Given the description of an element on the screen output the (x, y) to click on. 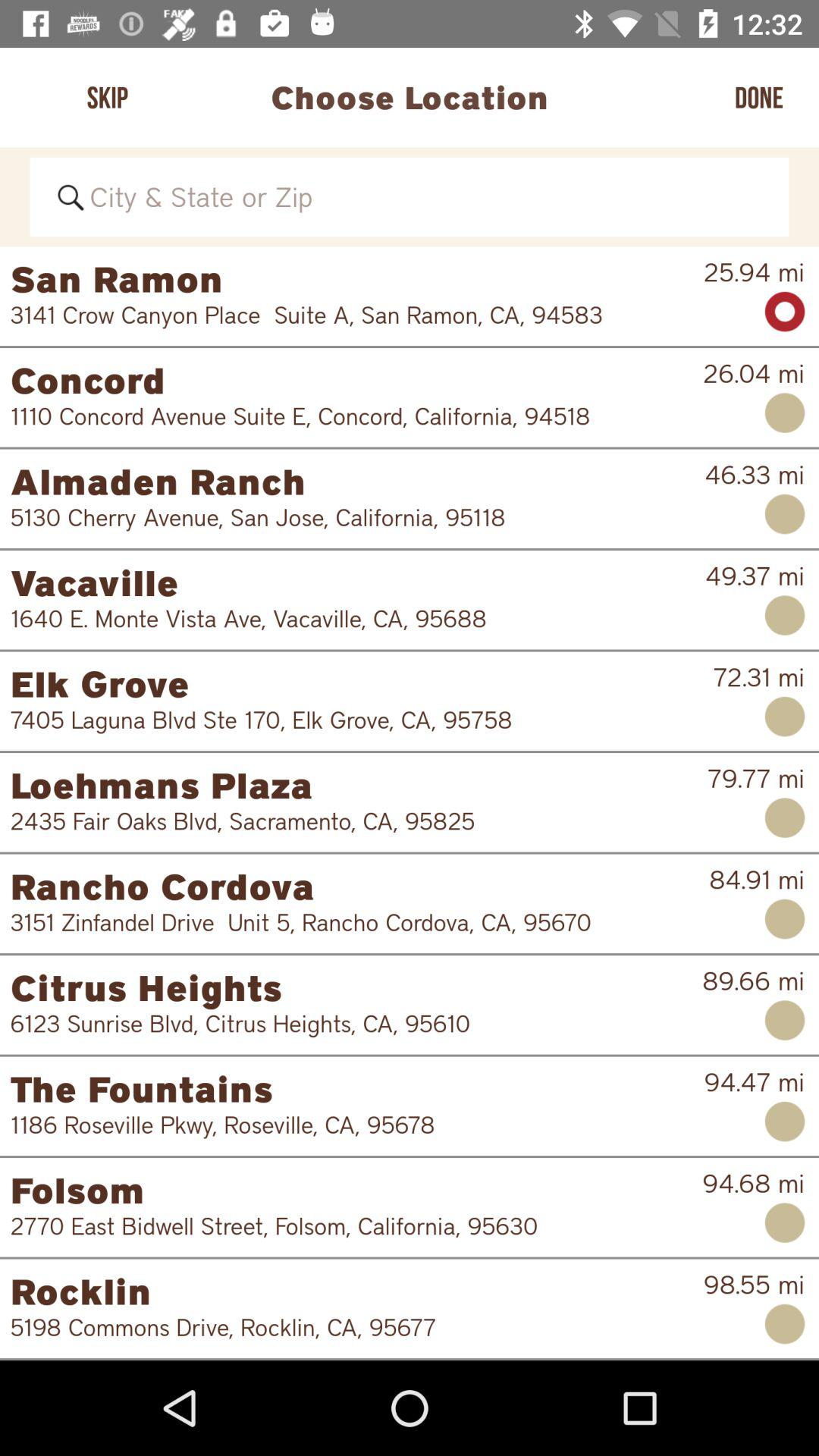
turn off 7405 laguna blvd (351, 719)
